Given the description of an element on the screen output the (x, y) to click on. 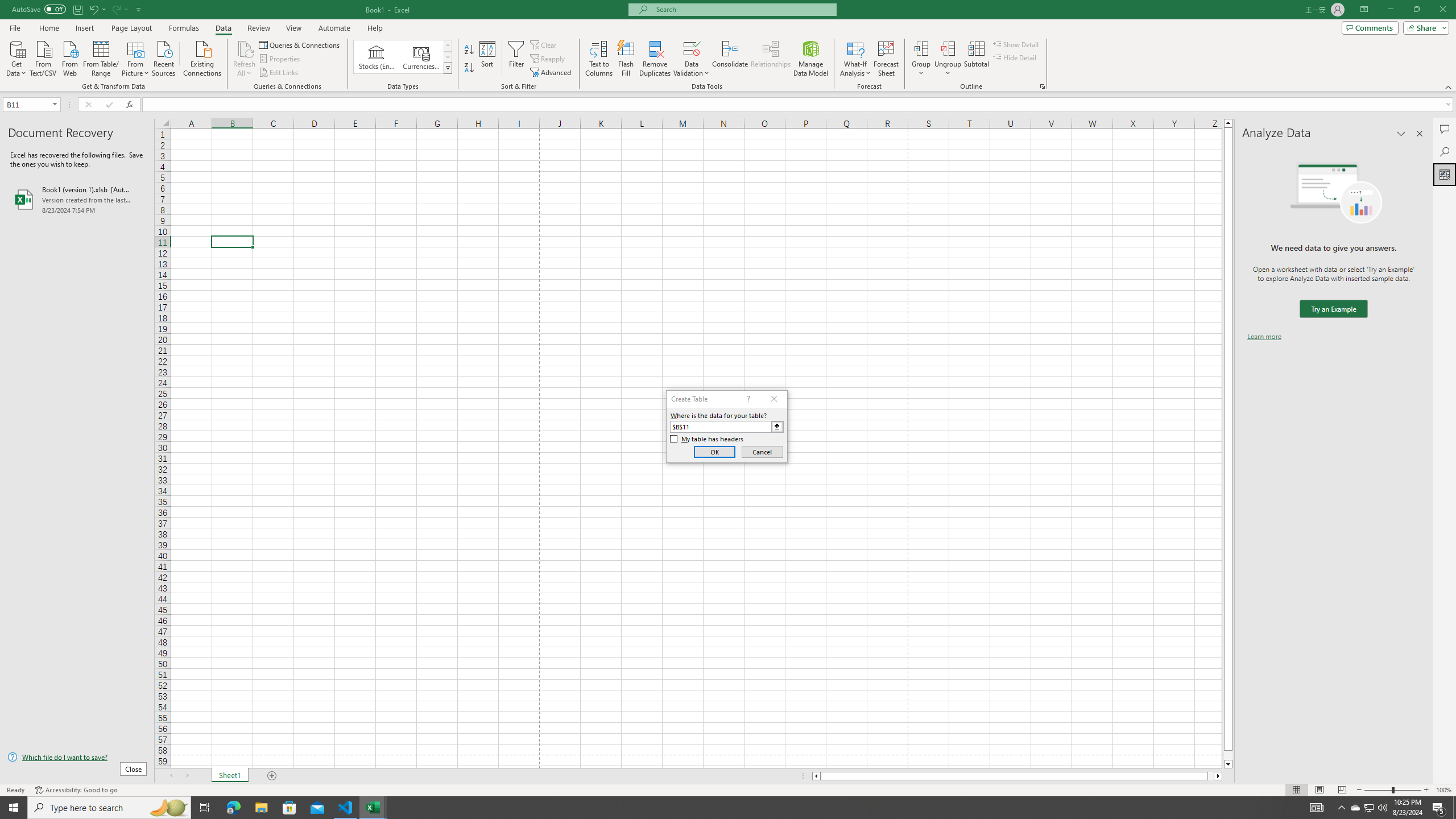
Manage Data Model (810, 58)
